Given the description of an element on the screen output the (x, y) to click on. 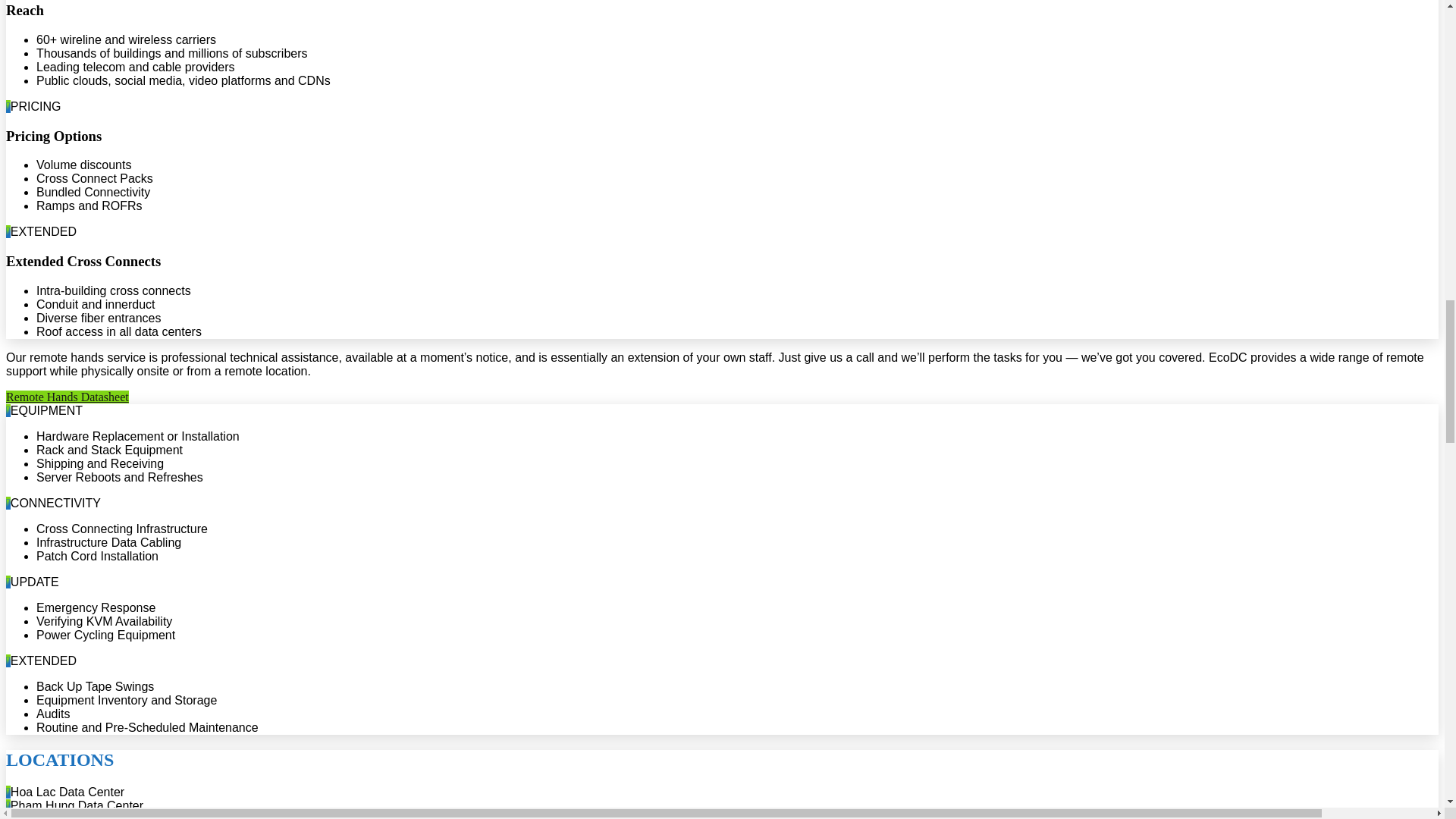
Remote Hands Datasheet (67, 396)
Remote Hands Datasheet (67, 396)
